Given the description of an element on the screen output the (x, y) to click on. 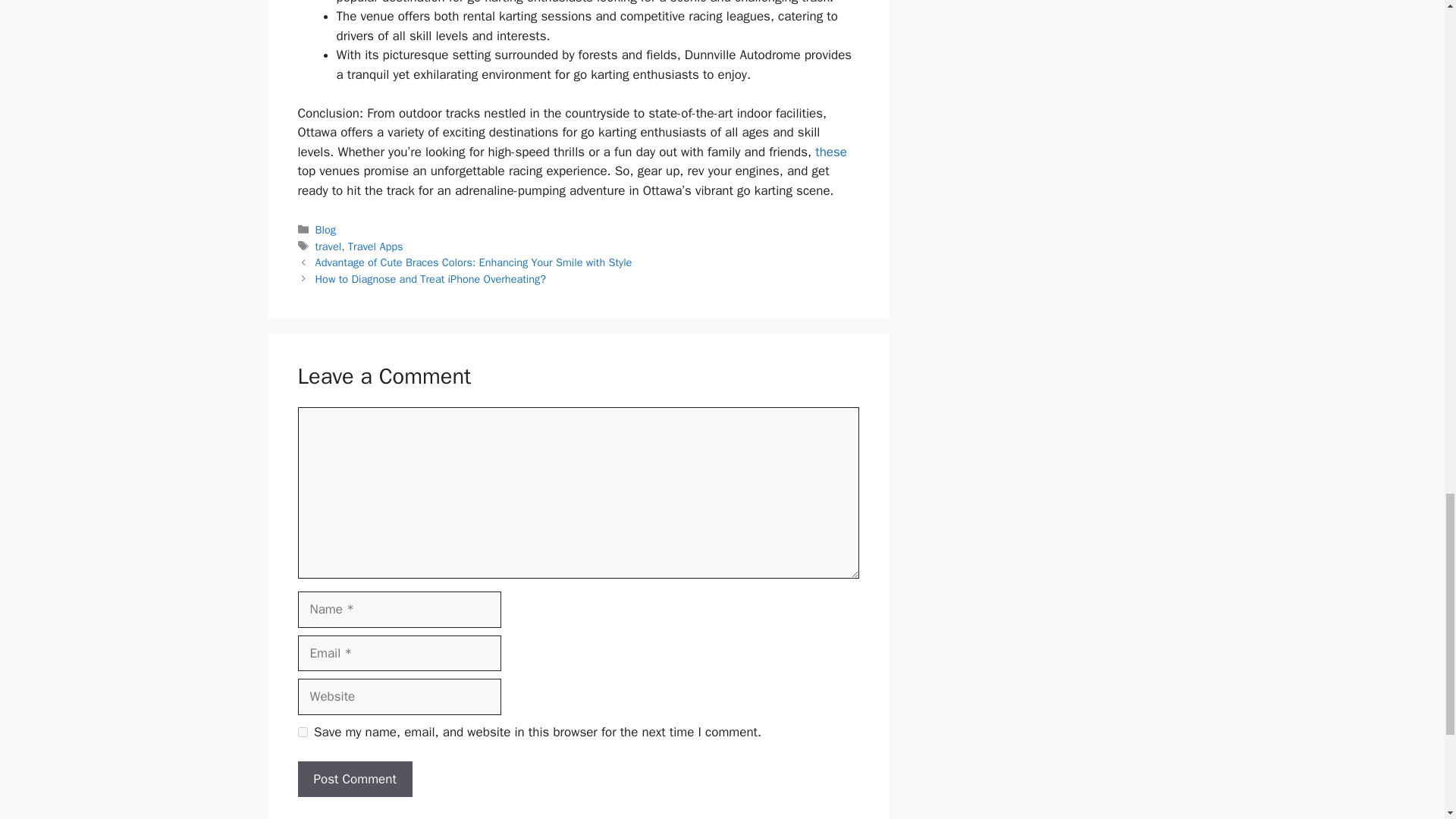
How to Diagnose and Treat iPhone Overheating? (430, 278)
Post Comment (354, 779)
yes (302, 732)
travel (328, 246)
these (831, 151)
Blog (325, 229)
Travel Apps (375, 246)
Post Comment (354, 779)
